Given the description of an element on the screen output the (x, y) to click on. 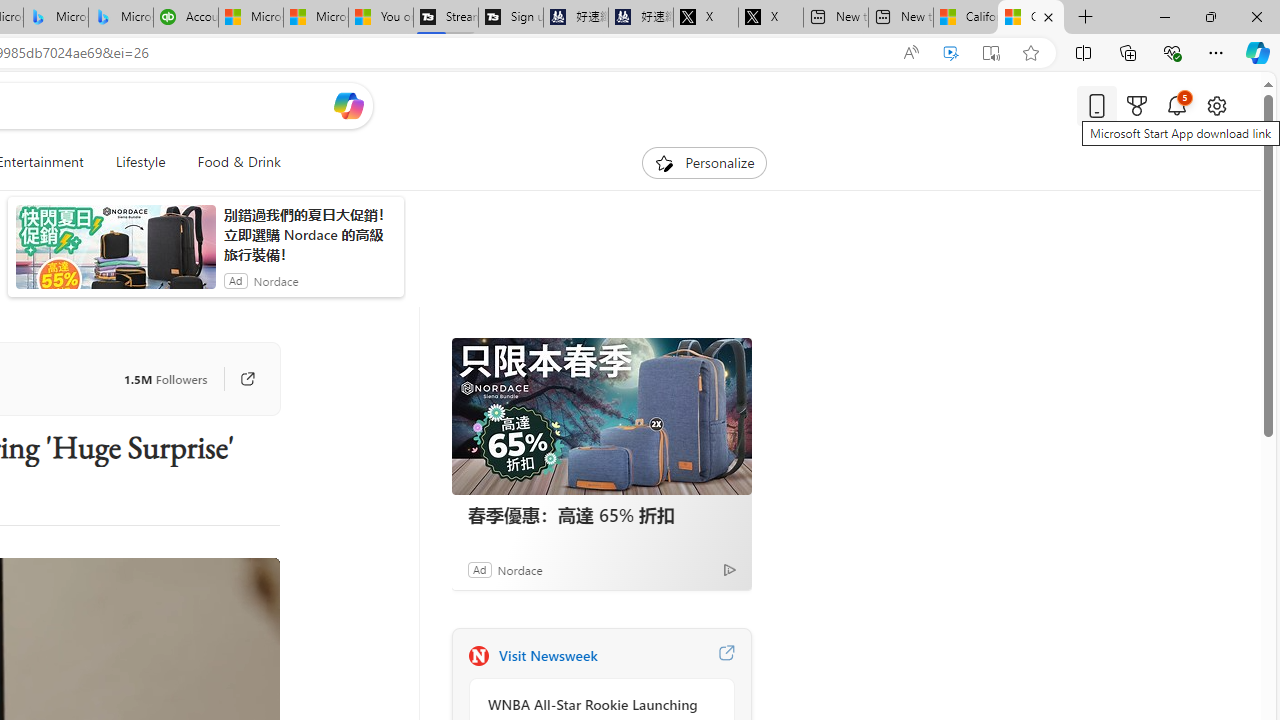
Go to publisher's site (237, 378)
Accounting Software for Accountants, CPAs and Bookkeepers (185, 17)
Visit Newsweek website (726, 655)
Lifestyle (139, 162)
Food & Drink (239, 162)
anim-content (115, 255)
